Given the description of an element on the screen output the (x, y) to click on. 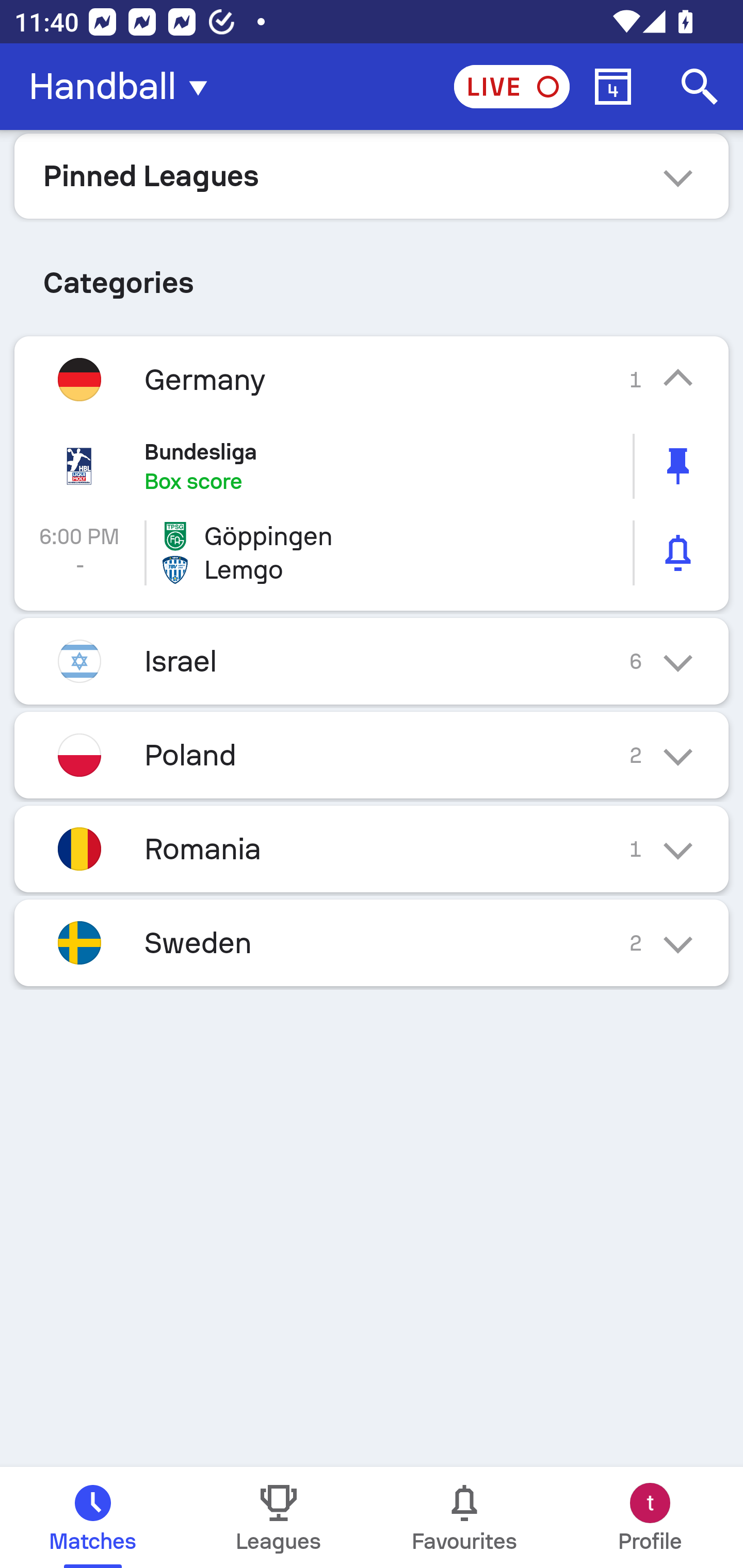
Handball (124, 86)
Calendar (612, 86)
Search (699, 86)
Pinned Leagues (371, 175)
Categories (371, 275)
Germany 1 (371, 379)
Bundesliga Box score (371, 466)
6:00 PM - Göppingen Lemgo (371, 552)
Israel 6 (371, 660)
Poland 2 (371, 754)
Romania 1 (371, 848)
Sweden 2 (371, 943)
Leagues (278, 1517)
Favourites (464, 1517)
Profile (650, 1517)
